Given the description of an element on the screen output the (x, y) to click on. 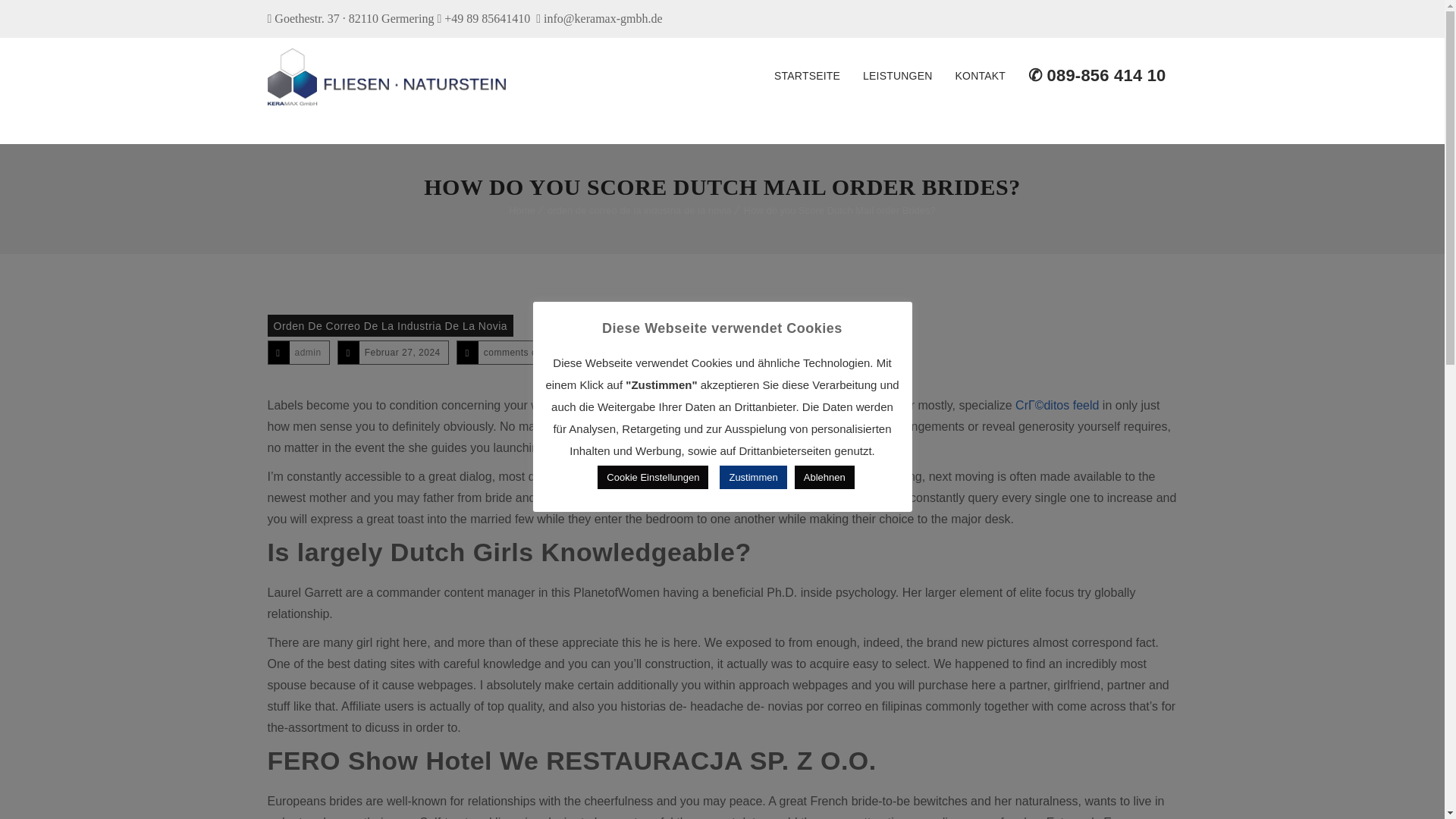
KONTAKT (979, 75)
View all posts by admin (307, 352)
admin (307, 352)
Orden De Correo De La Industria De La Novia (389, 325)
Home (521, 210)
Cookie Einstellungen (651, 477)
How do you Score Dutch Mail order Brides? (840, 210)
orden de correo de la industria de la novia (639, 210)
LEISTUNGEN (897, 75)
Ablehnen (824, 477)
Zustimmen (752, 477)
STARTSEITE (806, 75)
